Given the description of an element on the screen output the (x, y) to click on. 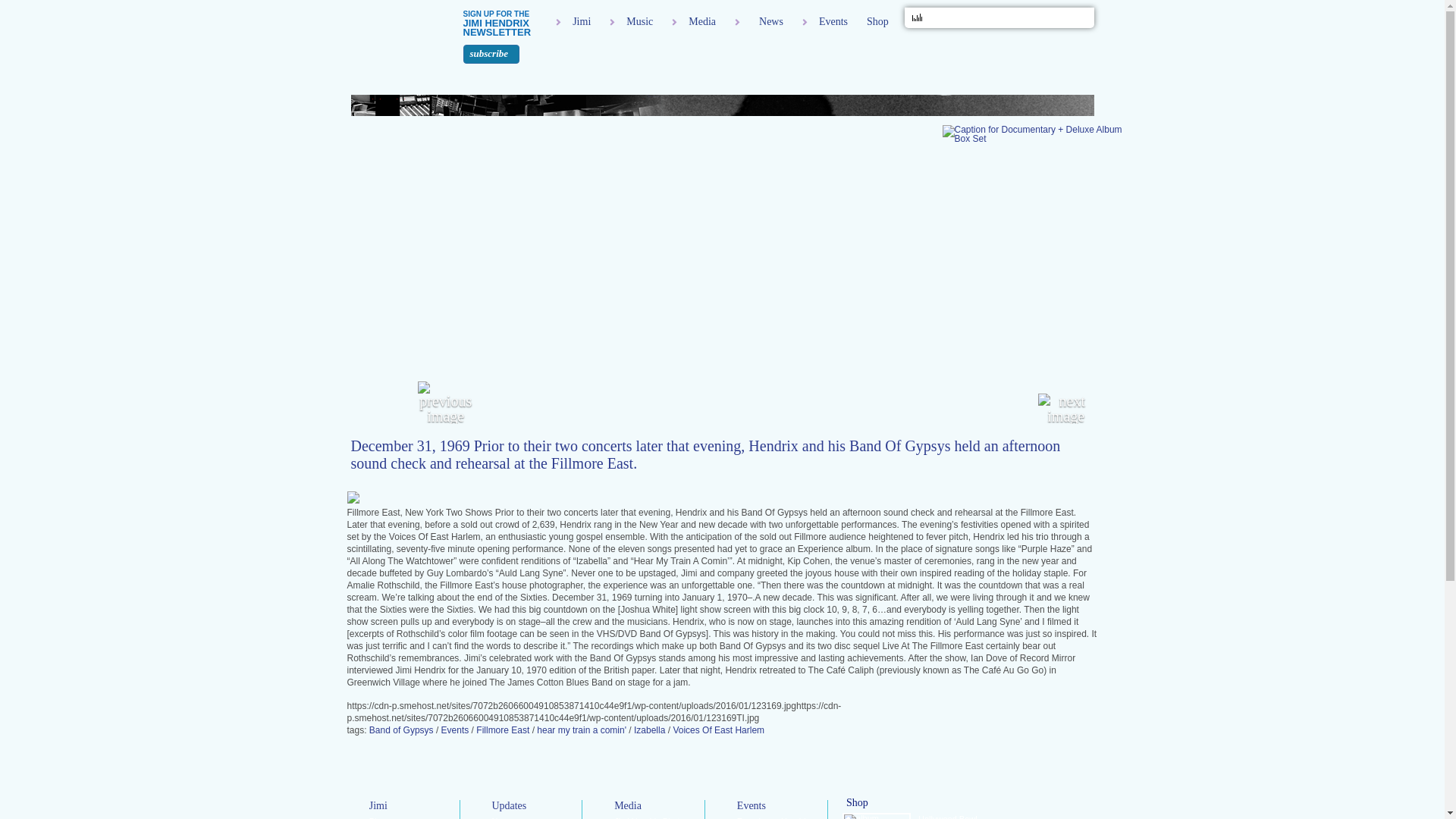
next (1075, 17)
previous (1051, 17)
Jimi (574, 20)
Events (826, 20)
Music (633, 20)
News (760, 20)
Shop (877, 20)
play (1064, 17)
subscribe (491, 54)
Media (695, 20)
